Given the description of an element on the screen output the (x, y) to click on. 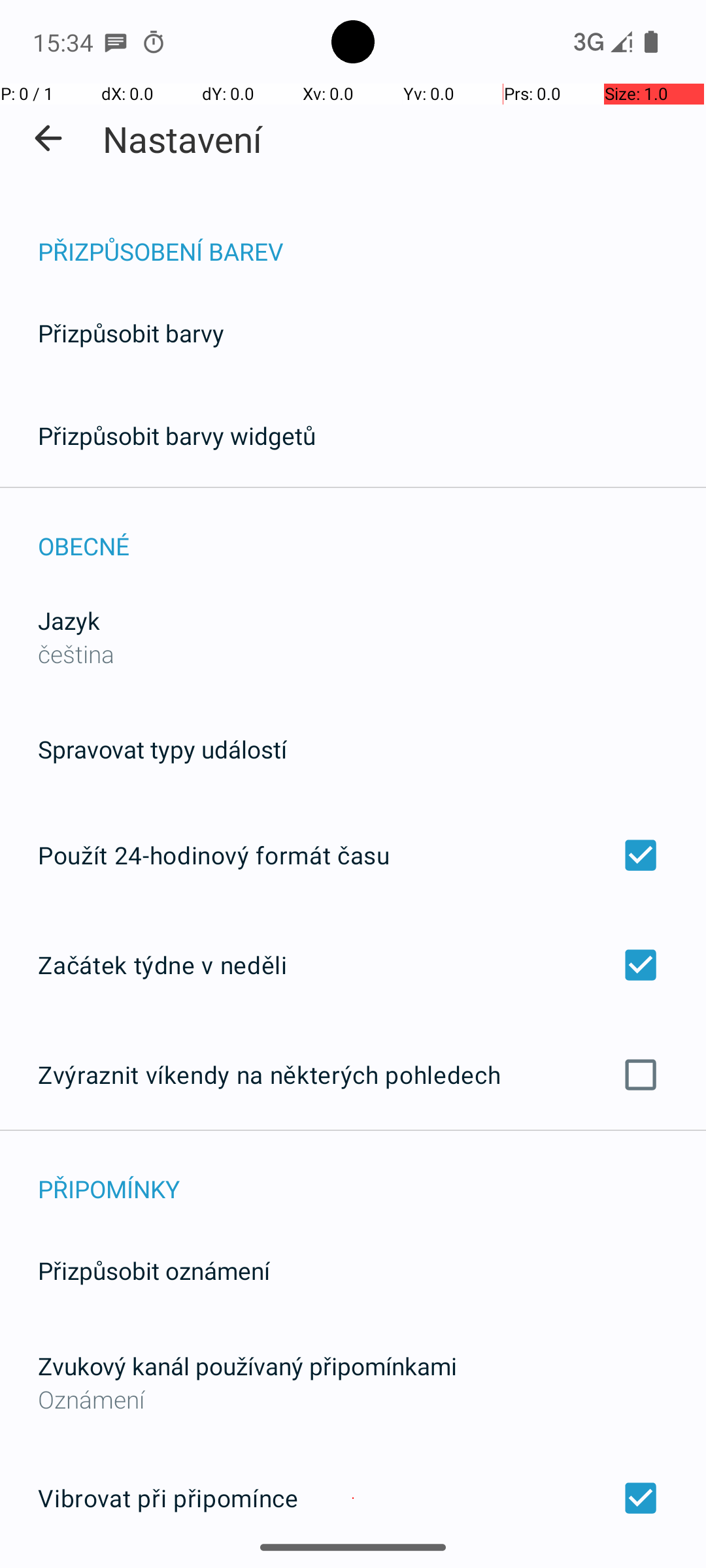
Nastavení Element type: android.widget.TextView (182, 138)
PŘIZPŮSOBENÍ BAREV Element type: android.widget.TextView (371, 237)
OBECNÉ Element type: android.widget.TextView (371, 532)
PŘIPOMÍNKY Element type: android.widget.TextView (371, 1174)
Přizpůsobit barvy Element type: android.widget.TextView (130, 332)
Přizpůsobit barvy widgetů Element type: android.widget.TextView (176, 435)
Jazyk Element type: android.widget.TextView (68, 620)
čeština Element type: android.widget.TextView (75, 653)
Spravovat typy událostí Element type: android.widget.TextView (161, 748)
Použít 24-hodinový formát času Element type: android.widget.CheckBox (352, 855)
Začátek týdne v neděli Element type: android.widget.CheckBox (352, 964)
Zvýraznit víkendy na některých pohledech Element type: android.widget.CheckBox (352, 1074)
Přizpůsobit oznámení Element type: android.widget.TextView (153, 1270)
Zvukový kanál používaný připomínkami Element type: android.widget.TextView (246, 1365)
Oznámení Element type: android.widget.TextView (352, 1398)
Vibrovat při připomínce Element type: android.widget.CheckBox (352, 1497)
Opakovat připomínky až do zamítnutí Element type: android.widget.CheckBox (352, 1567)
